Given the description of an element on the screen output the (x, y) to click on. 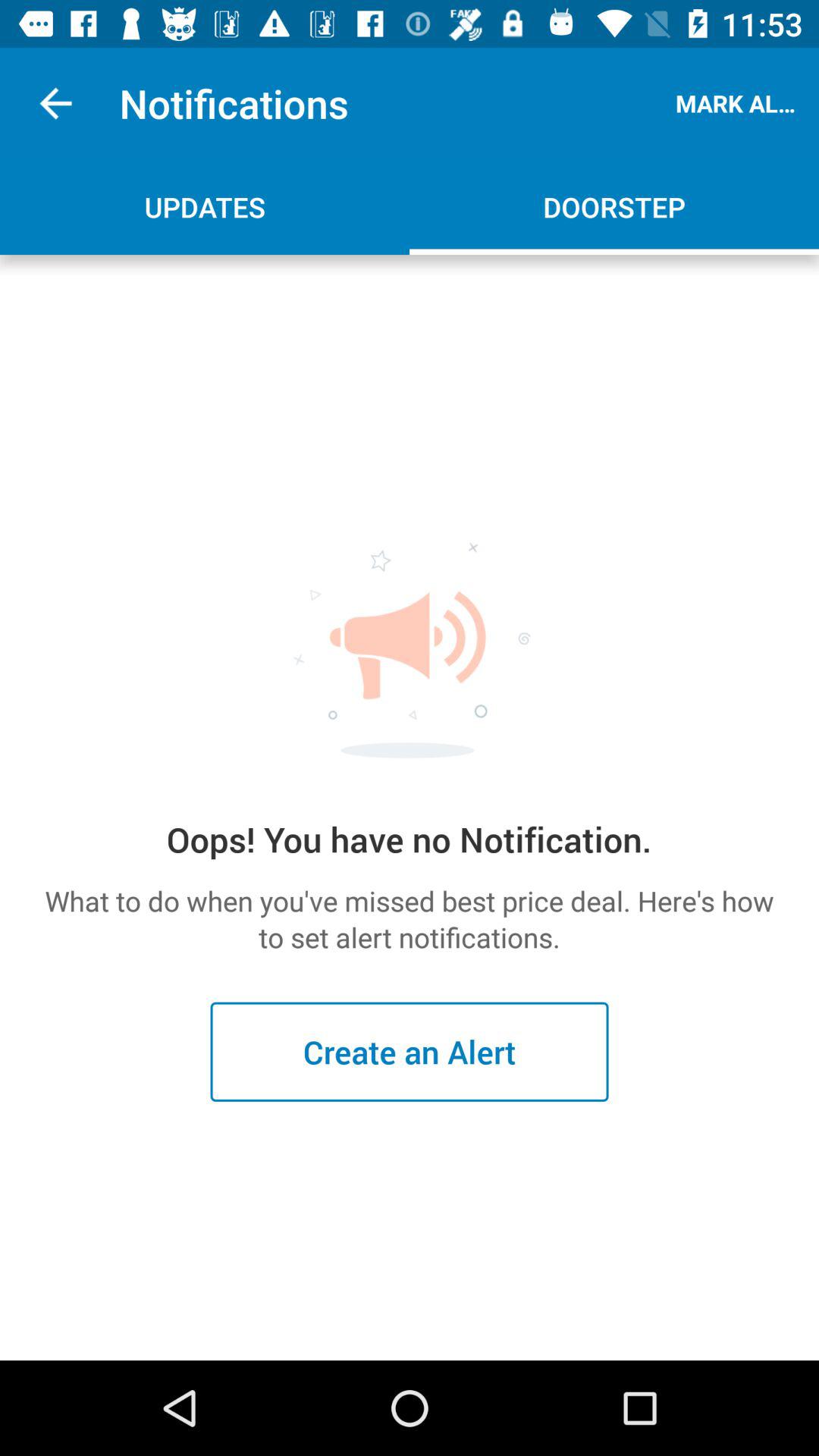
choose the icon to the right of updates item (614, 206)
